Given the description of an element on the screen output the (x, y) to click on. 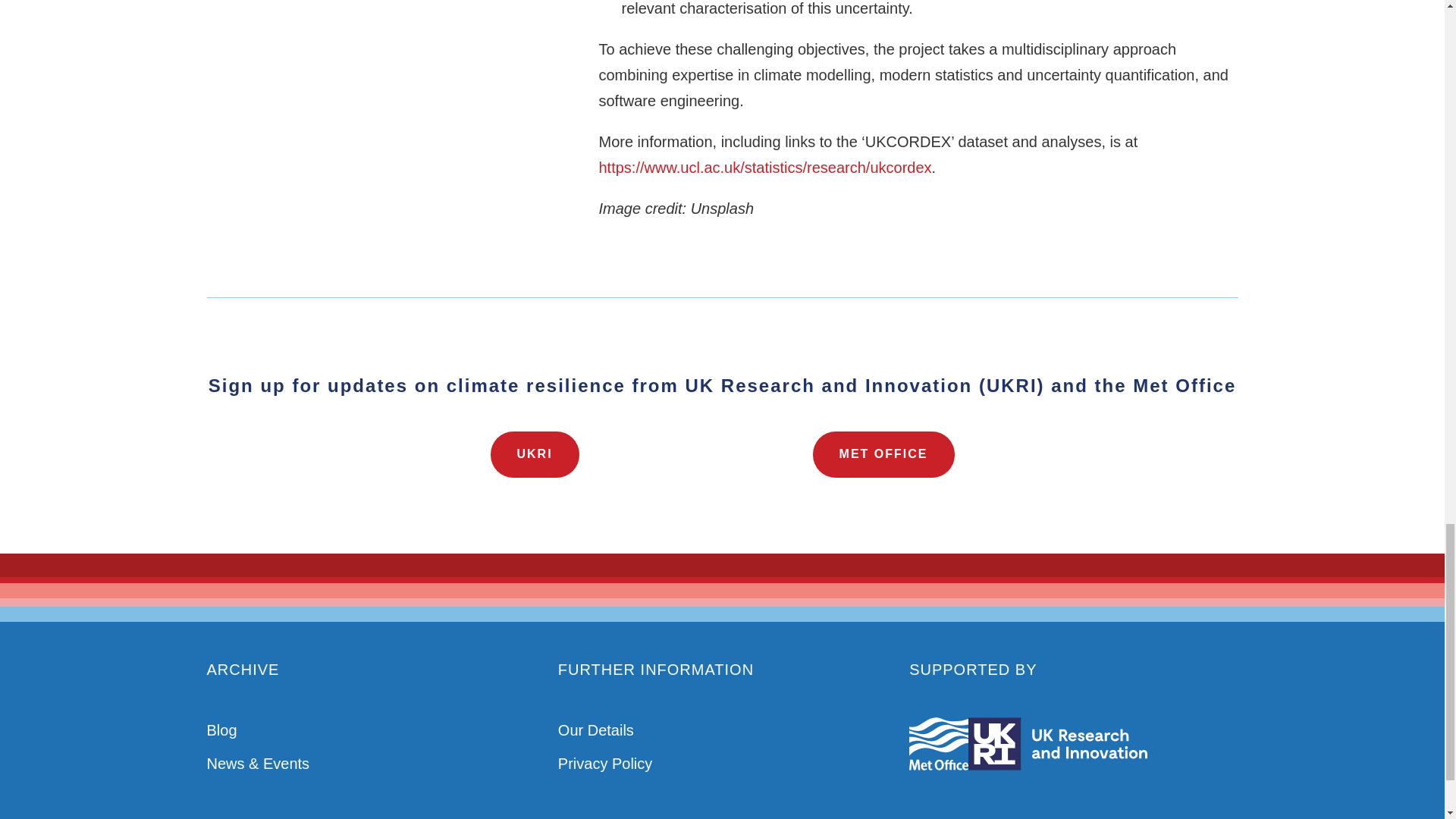
UKRI (533, 454)
MET OFFICE (883, 454)
